Given the description of an element on the screen output the (x, y) to click on. 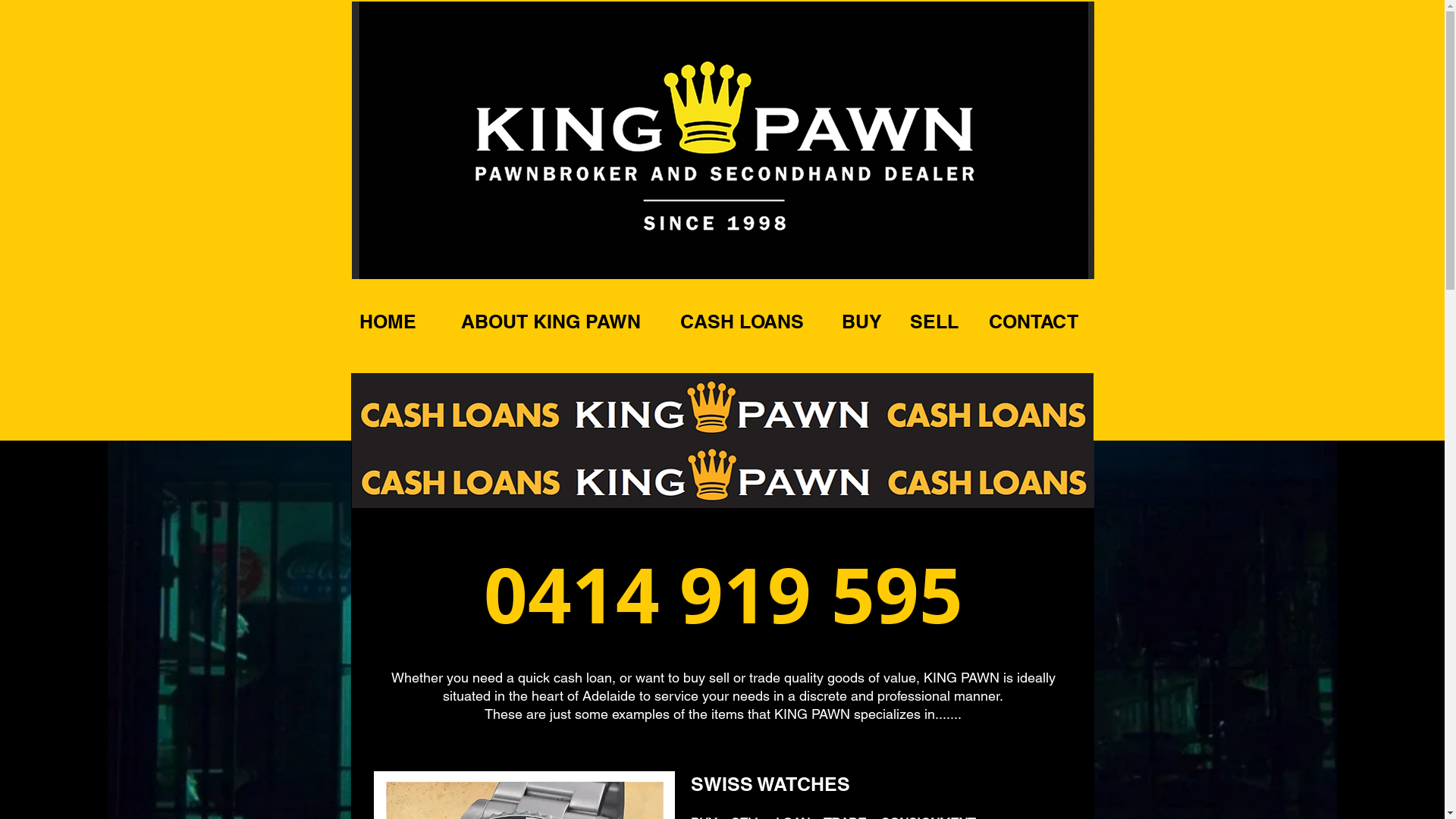
CASH LOANS Element type: text (741, 321)
HOME Element type: text (388, 321)
KP-WE-BANNER.png 2014-11-23-11:22:47 Element type: hover (722, 140)
BUY Element type: text (861, 321)
SELL Element type: text (933, 321)
ABOUT KING PAWN Element type: text (550, 321)
CONTACT Element type: text (1033, 321)
